Given the description of an element on the screen output the (x, y) to click on. 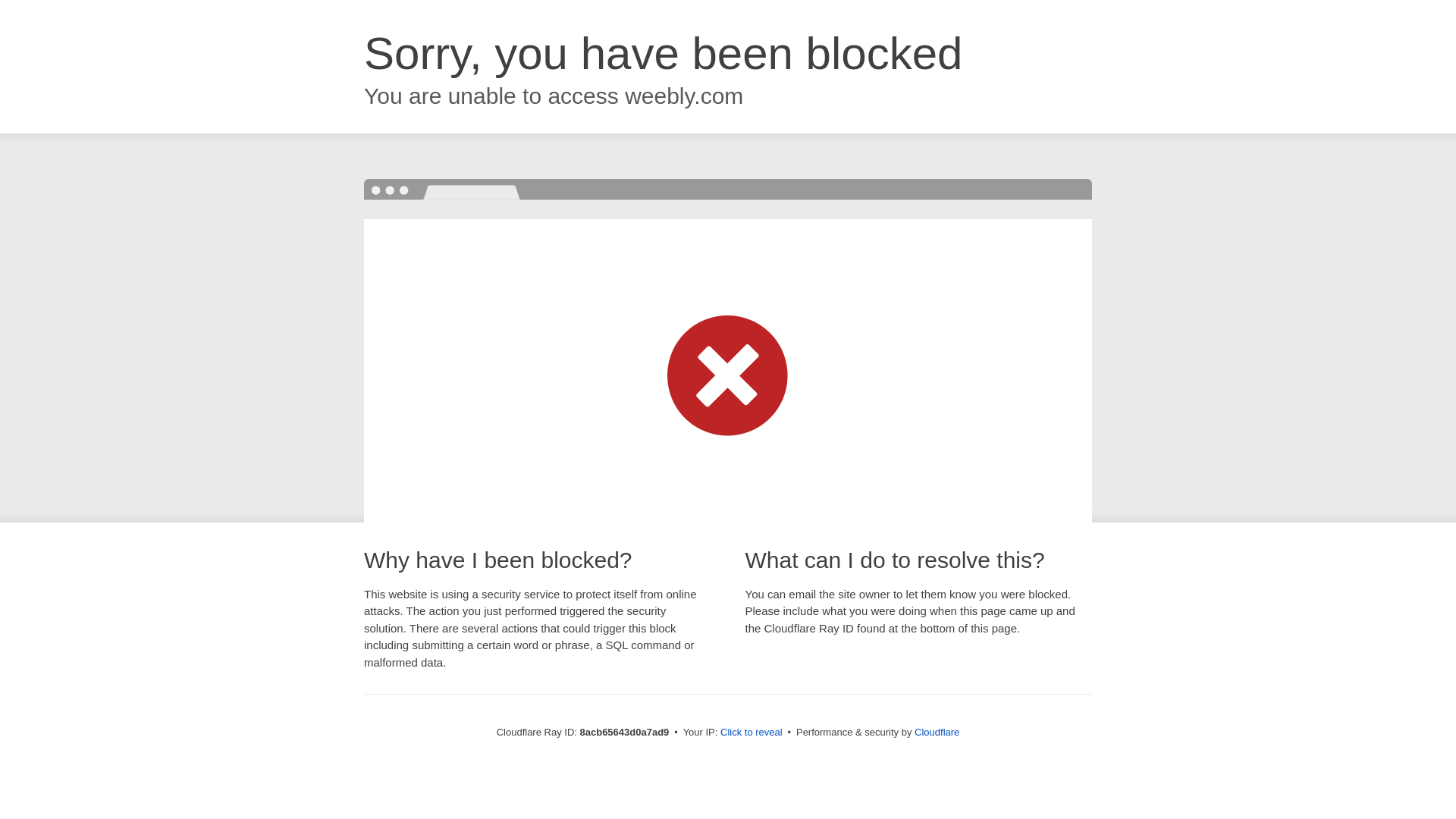
Click to reveal (751, 732)
Cloudflare (936, 731)
